Given the description of an element on the screen output the (x, y) to click on. 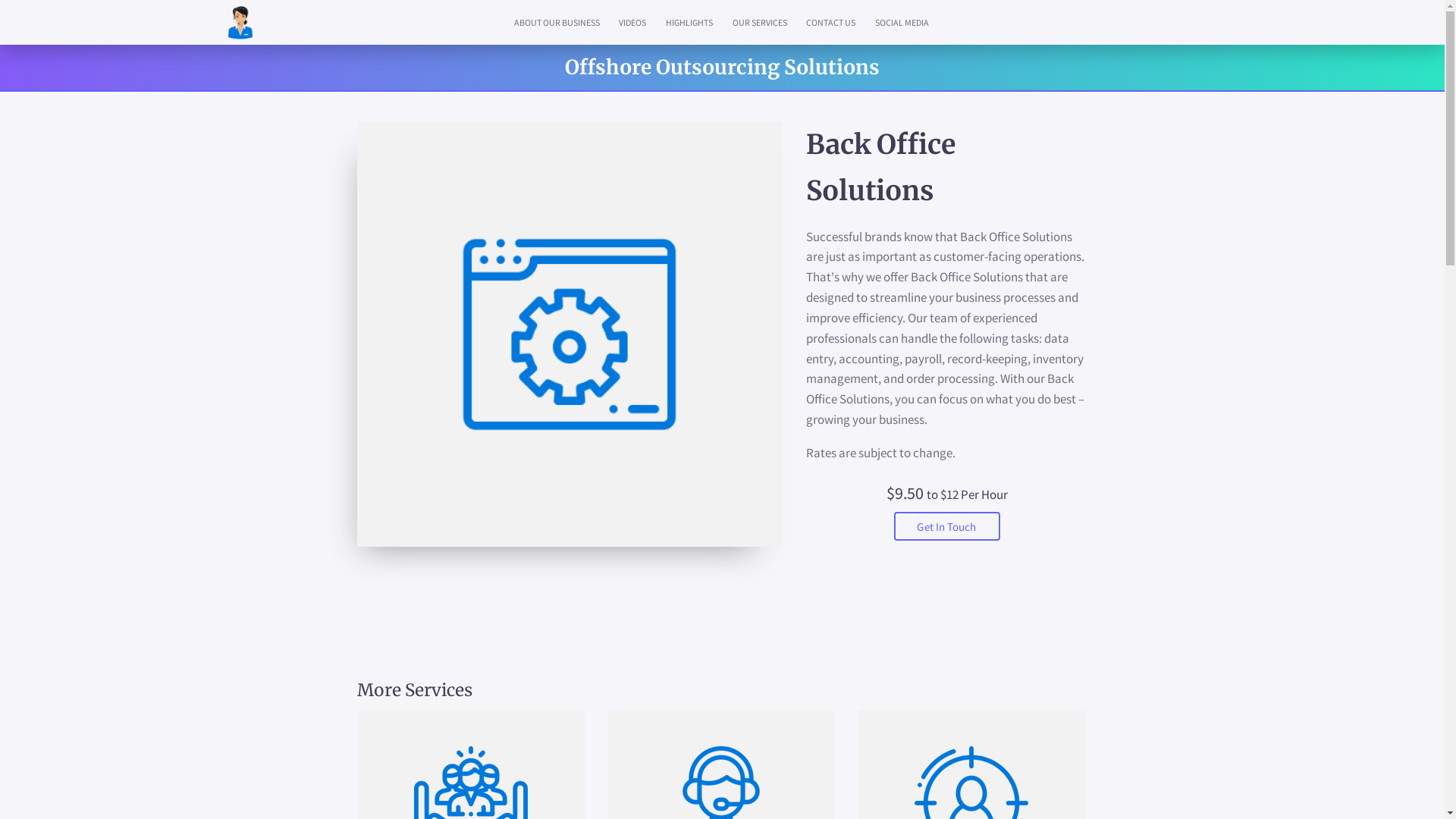
SOCIAL MEDIA Element type: text (901, 22)
HIGHLIGHTS Element type: text (688, 22)
Get In Touch Element type: text (946, 525)
ABOUT OUR BUSINESS Element type: text (556, 22)
CONTACT US Element type: text (830, 22)
VIDEOS Element type: text (632, 22)
OUR SERVICES Element type: text (759, 22)
